Given the description of an element on the screen output the (x, y) to click on. 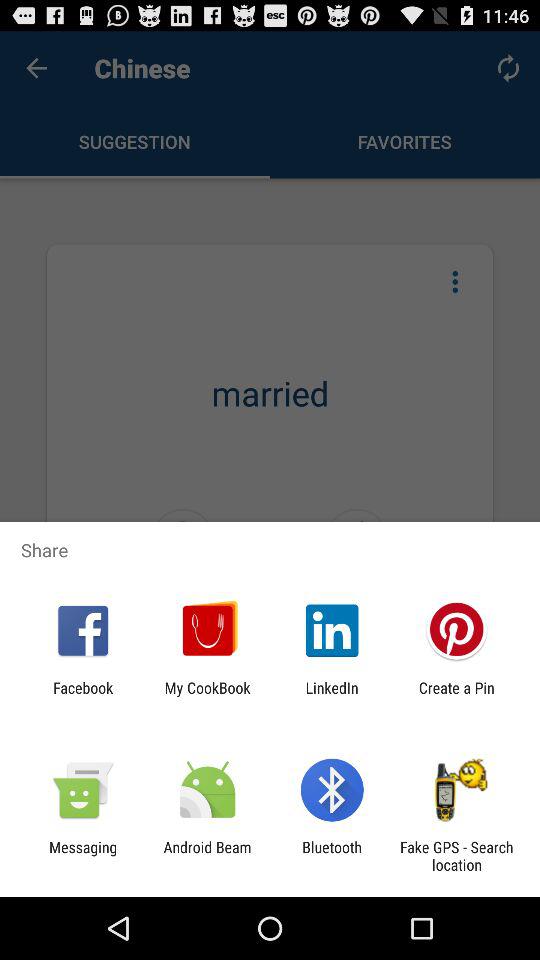
click the app next to the android beam app (83, 856)
